Given the description of an element on the screen output the (x, y) to click on. 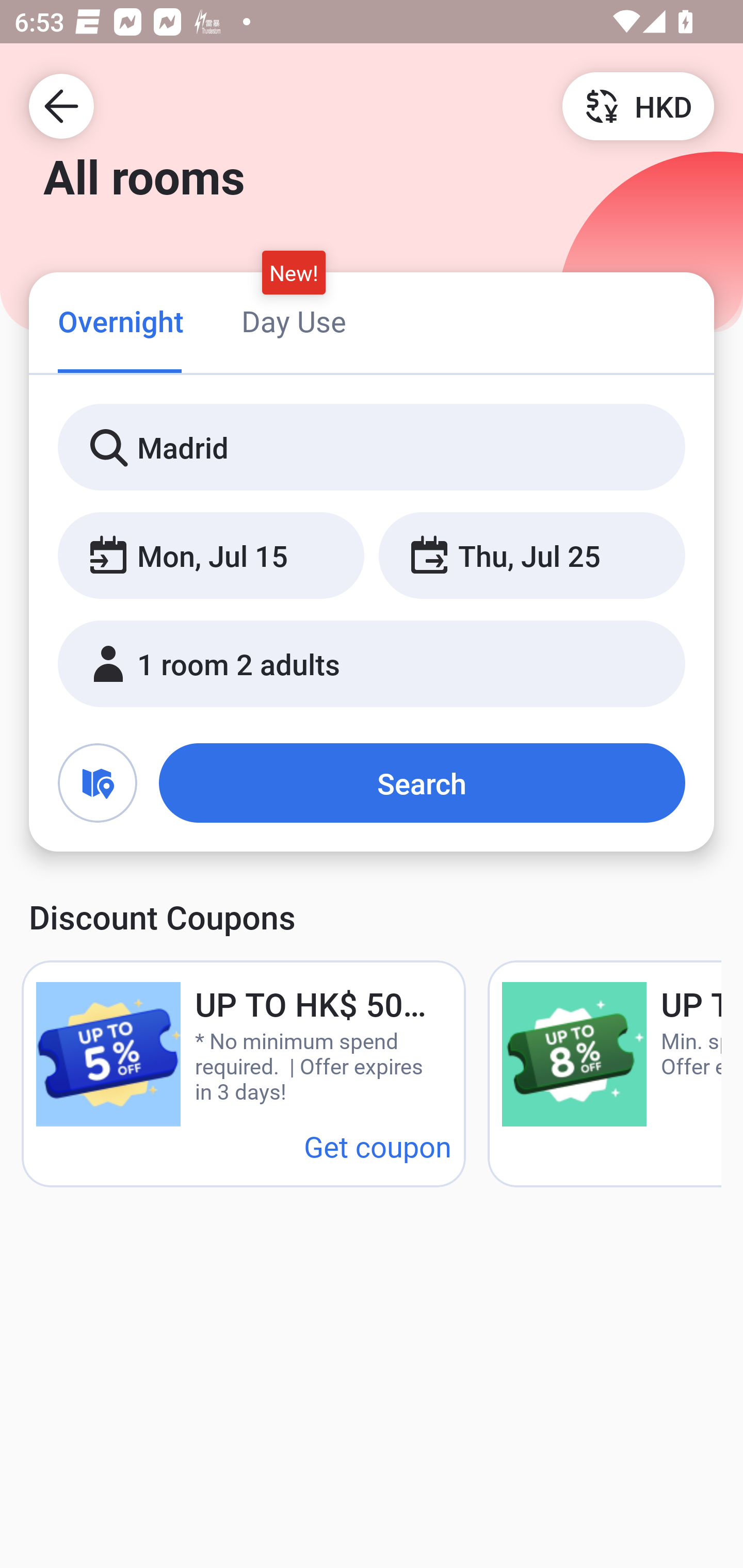
HKD (638, 105)
New! (294, 272)
Day Use (293, 321)
Madrid (371, 447)
Mon, Jul 15 (210, 555)
Thu, Jul 25 (531, 555)
1 room 2 adults (371, 663)
Search (422, 783)
Get coupon (377, 1146)
